Given the description of an element on the screen output the (x, y) to click on. 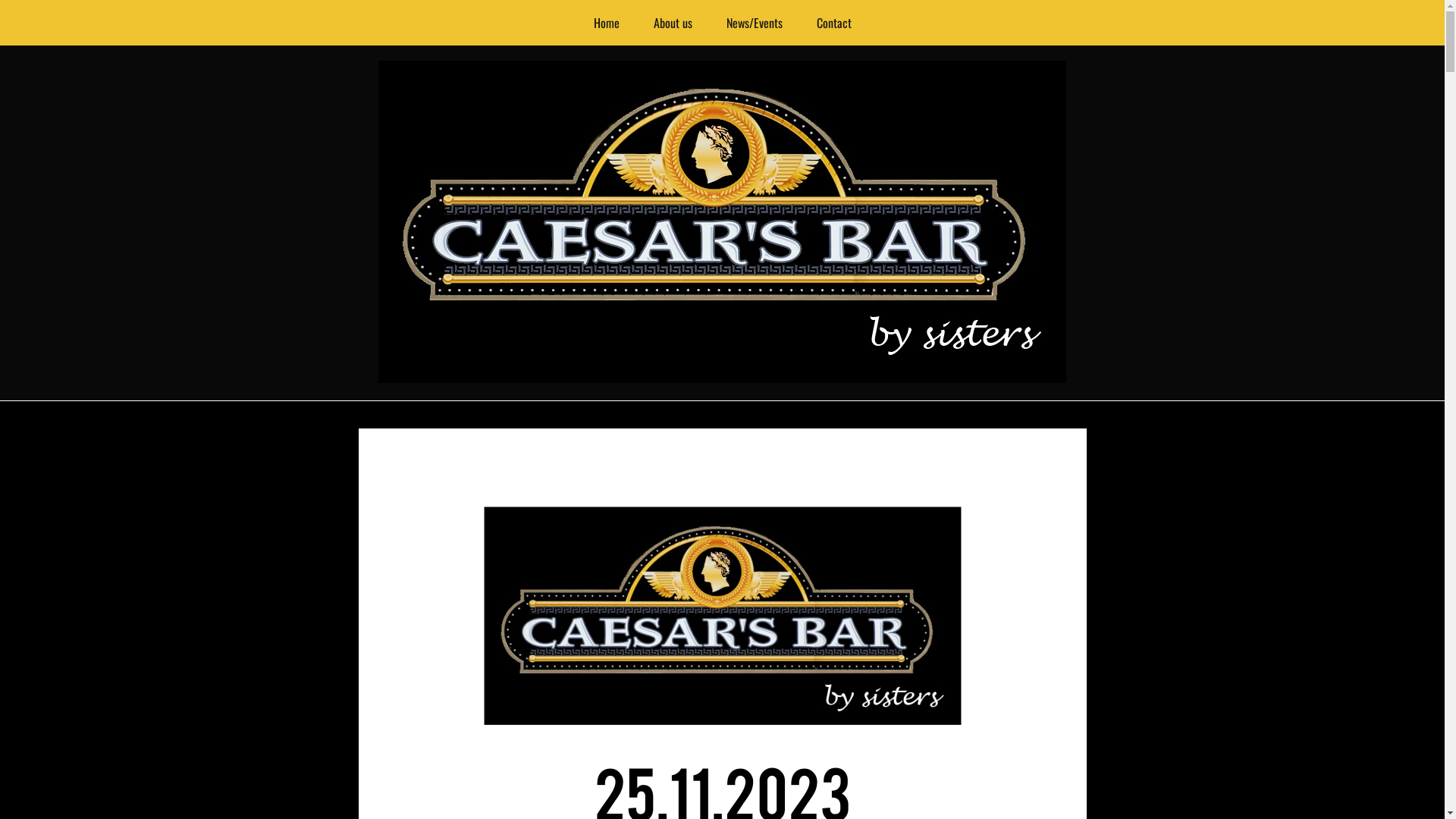
About us Element type: text (672, 22)
News/Events Element type: text (754, 22)
Contact Element type: text (833, 22)
Home Element type: text (605, 22)
